Given the description of an element on the screen output the (x, y) to click on. 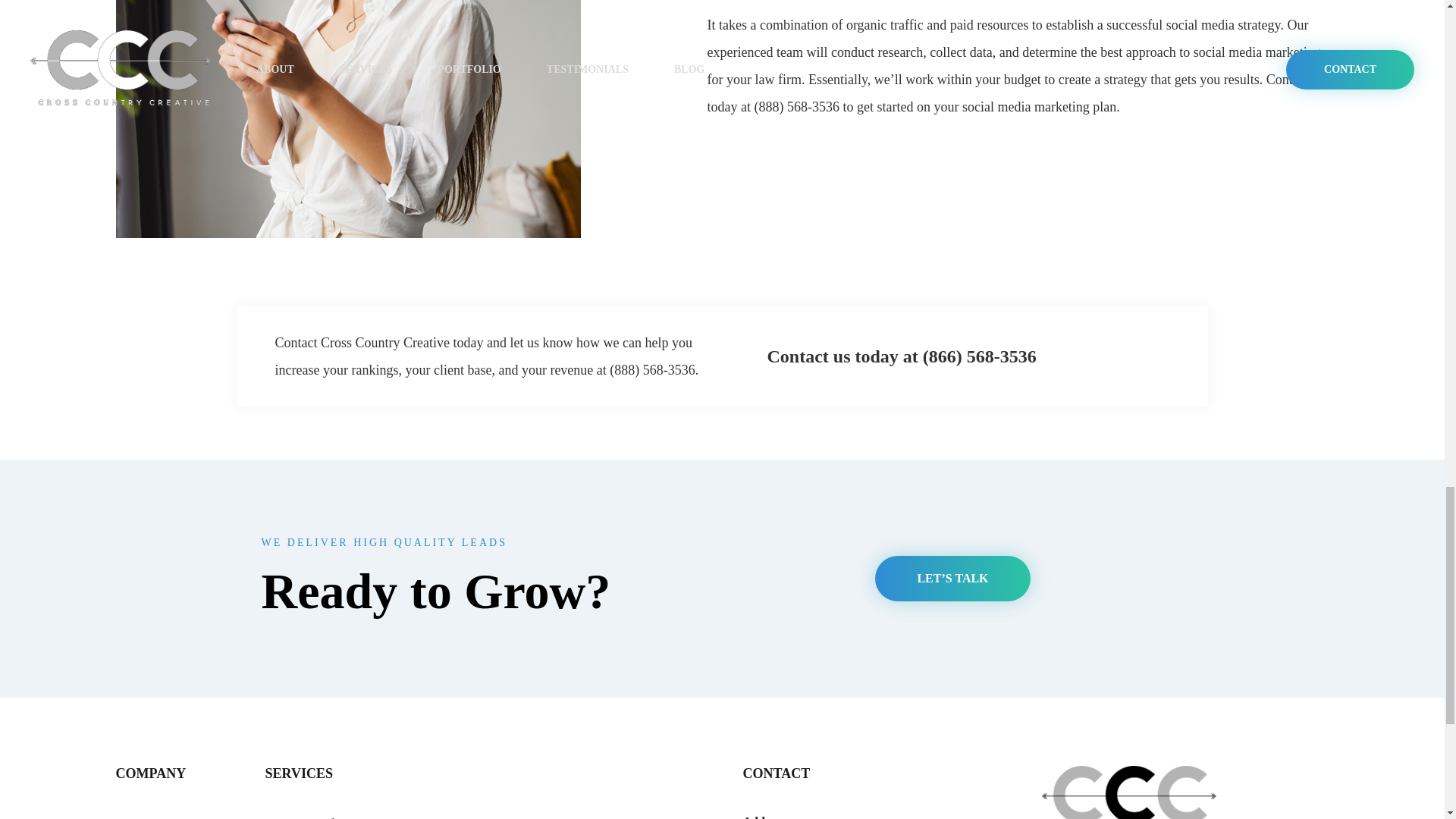
Law Firm Web Design (319, 817)
Law Firm SEO (526, 817)
Home (129, 817)
